Given the description of an element on the screen output the (x, y) to click on. 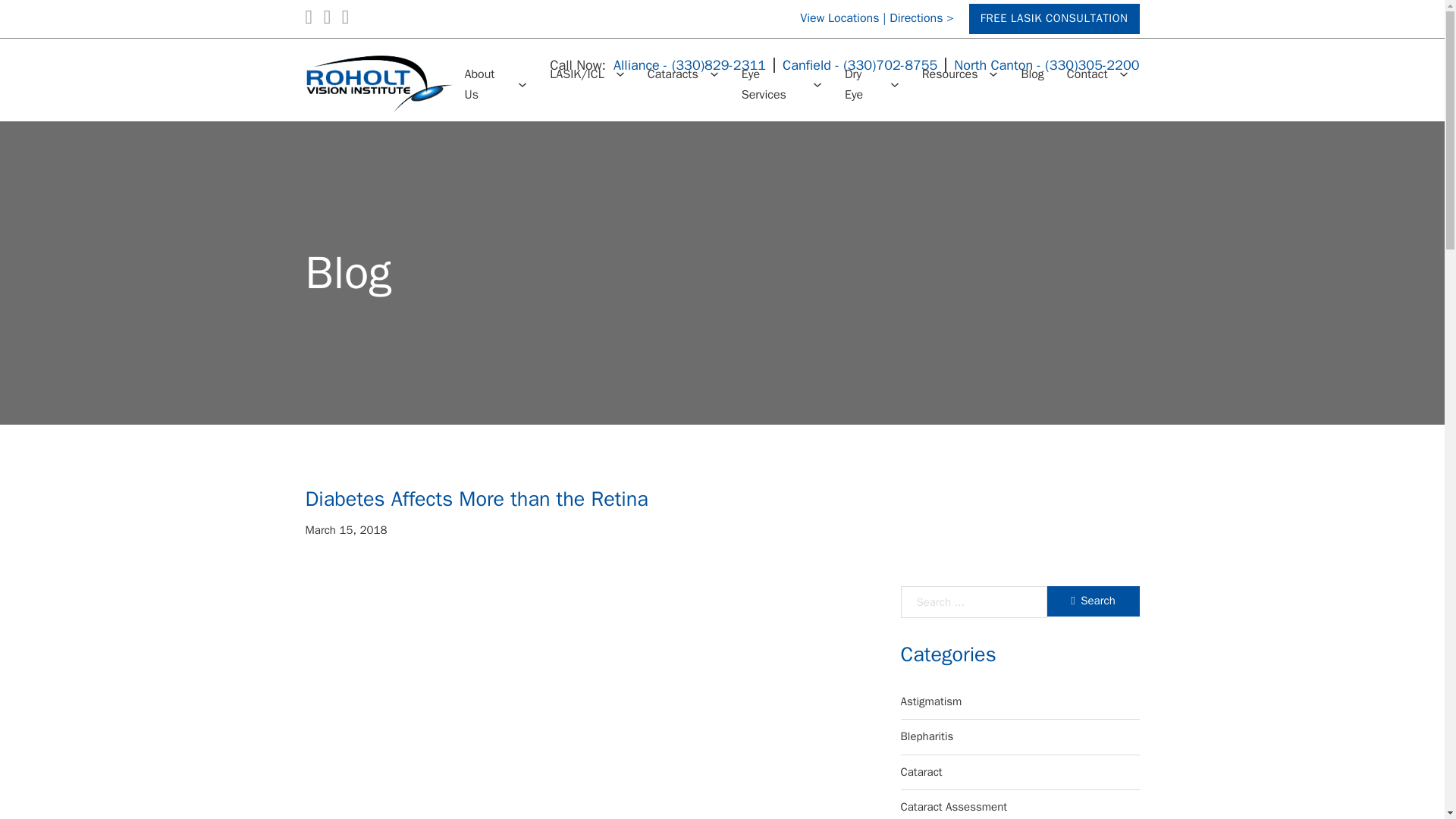
About Us (485, 84)
Eye Services (771, 84)
Dry Eye (860, 84)
Cataracts (673, 74)
FREE LASIK CONSULTATION (1054, 19)
